Given the description of an element on the screen output the (x, y) to click on. 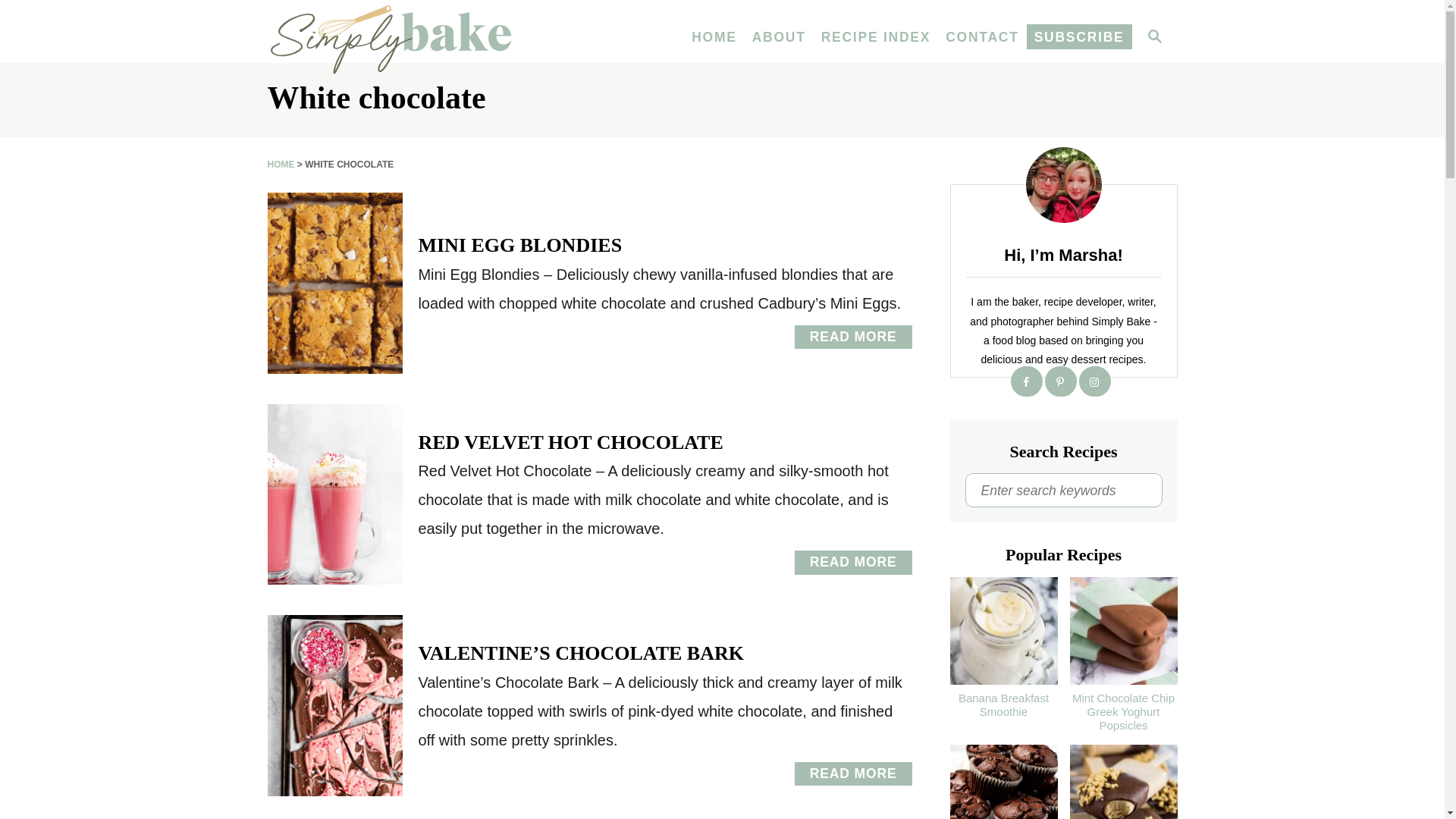
HOME (714, 38)
SEARCH (1153, 37)
CONTACT (981, 38)
SUBSCRIBE (1079, 38)
Simply Bake (403, 38)
MINI EGG BLONDIES (519, 245)
RECIPE INDEX (853, 337)
HOME (876, 38)
